Given the description of an element on the screen output the (x, y) to click on. 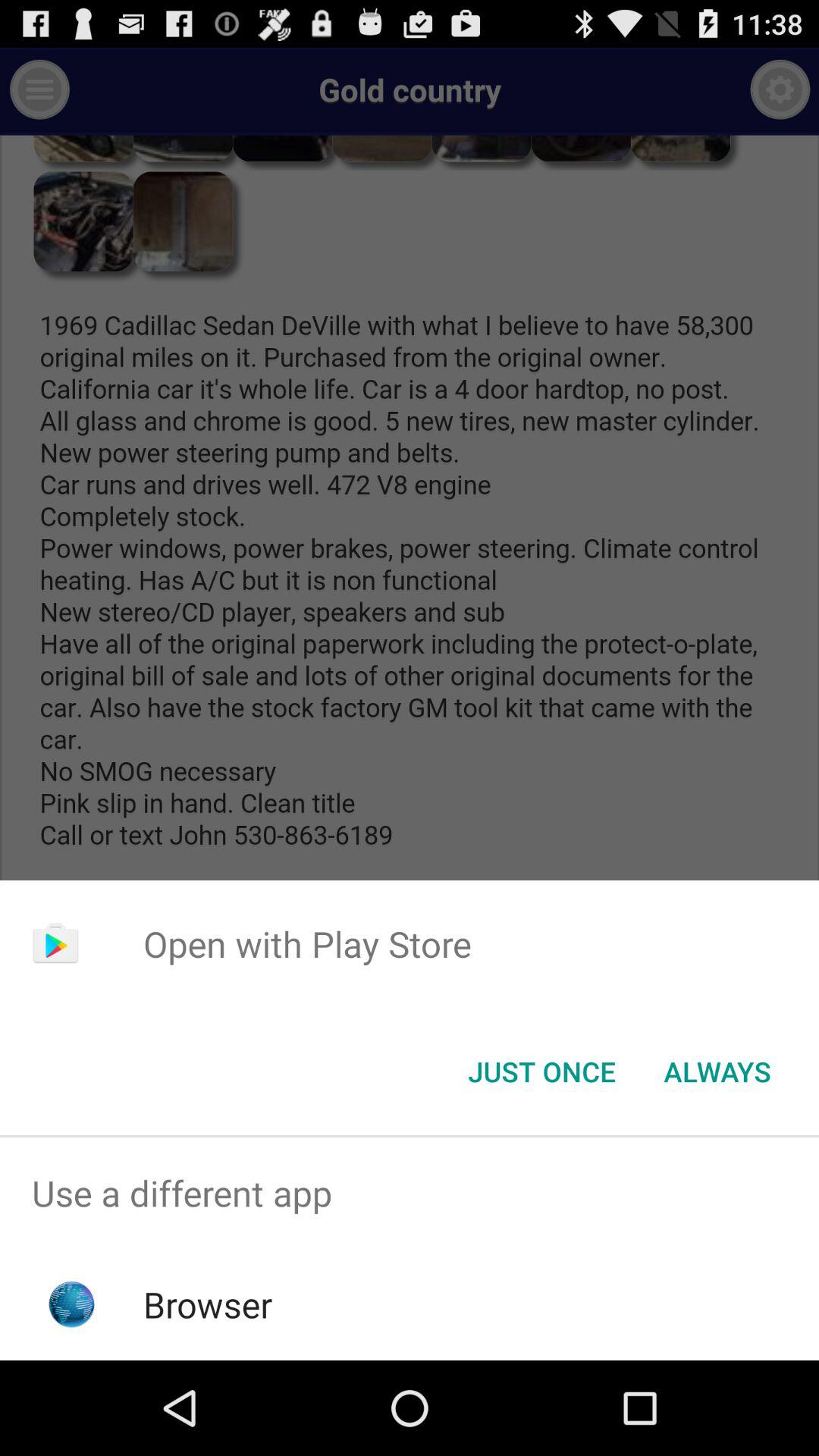
open icon to the left of the always item (541, 1071)
